Given the description of an element on the screen output the (x, y) to click on. 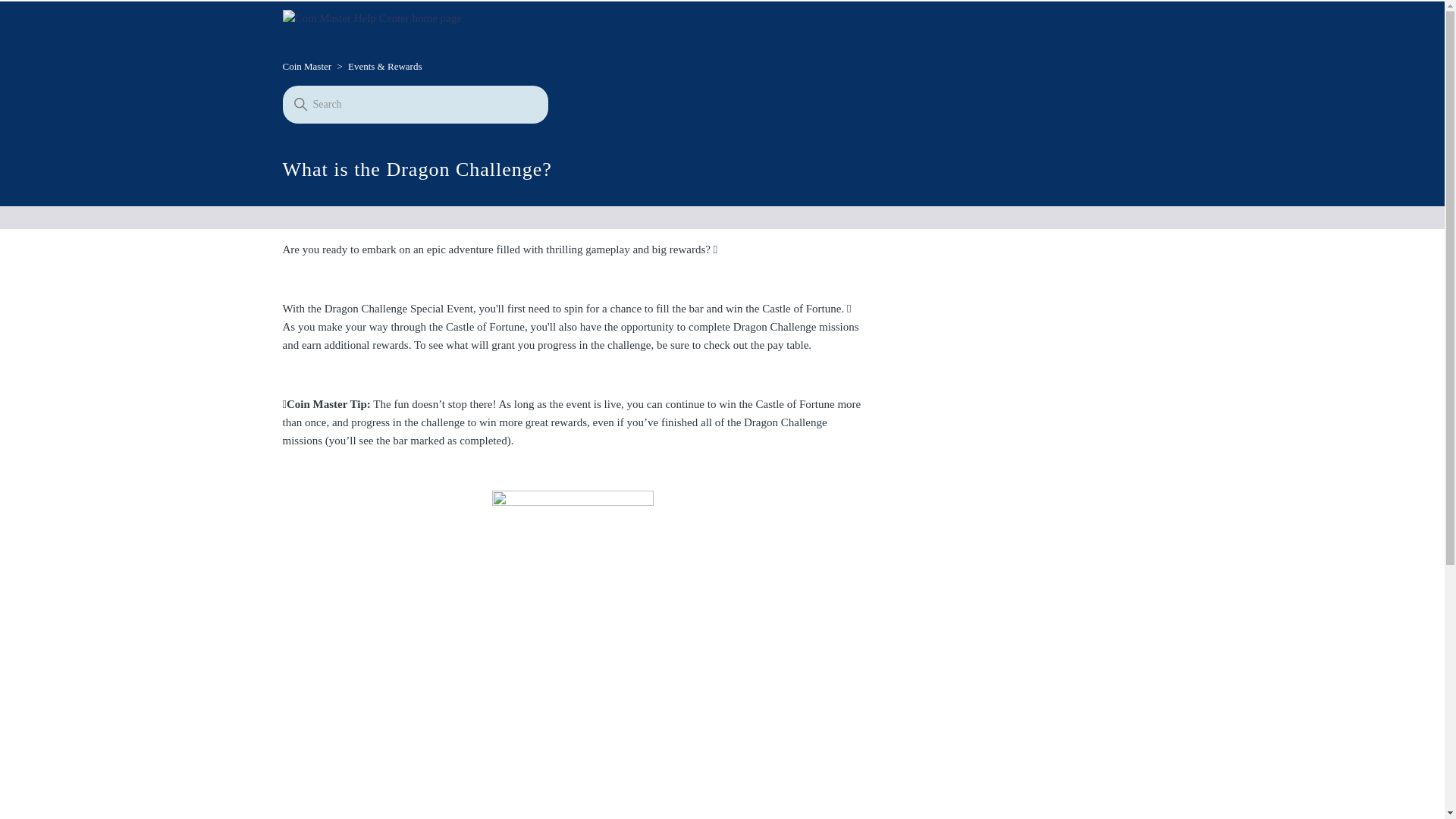
Coin Master (307, 66)
Home (371, 18)
Coin Master (306, 66)
